Given the description of an element on the screen output the (x, y) to click on. 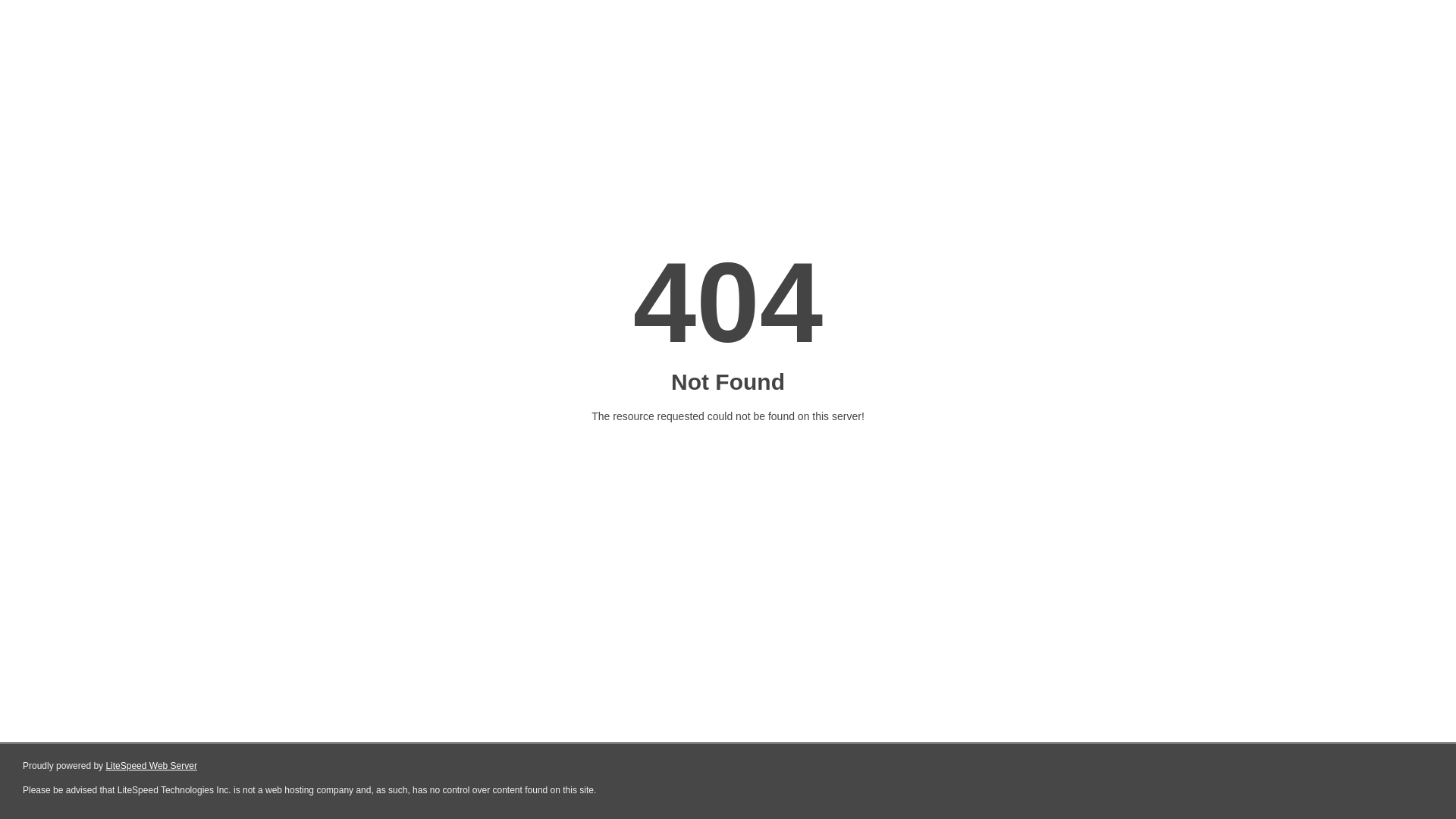
LiteSpeed Web Server Element type: text (151, 765)
